Given the description of an element on the screen output the (x, y) to click on. 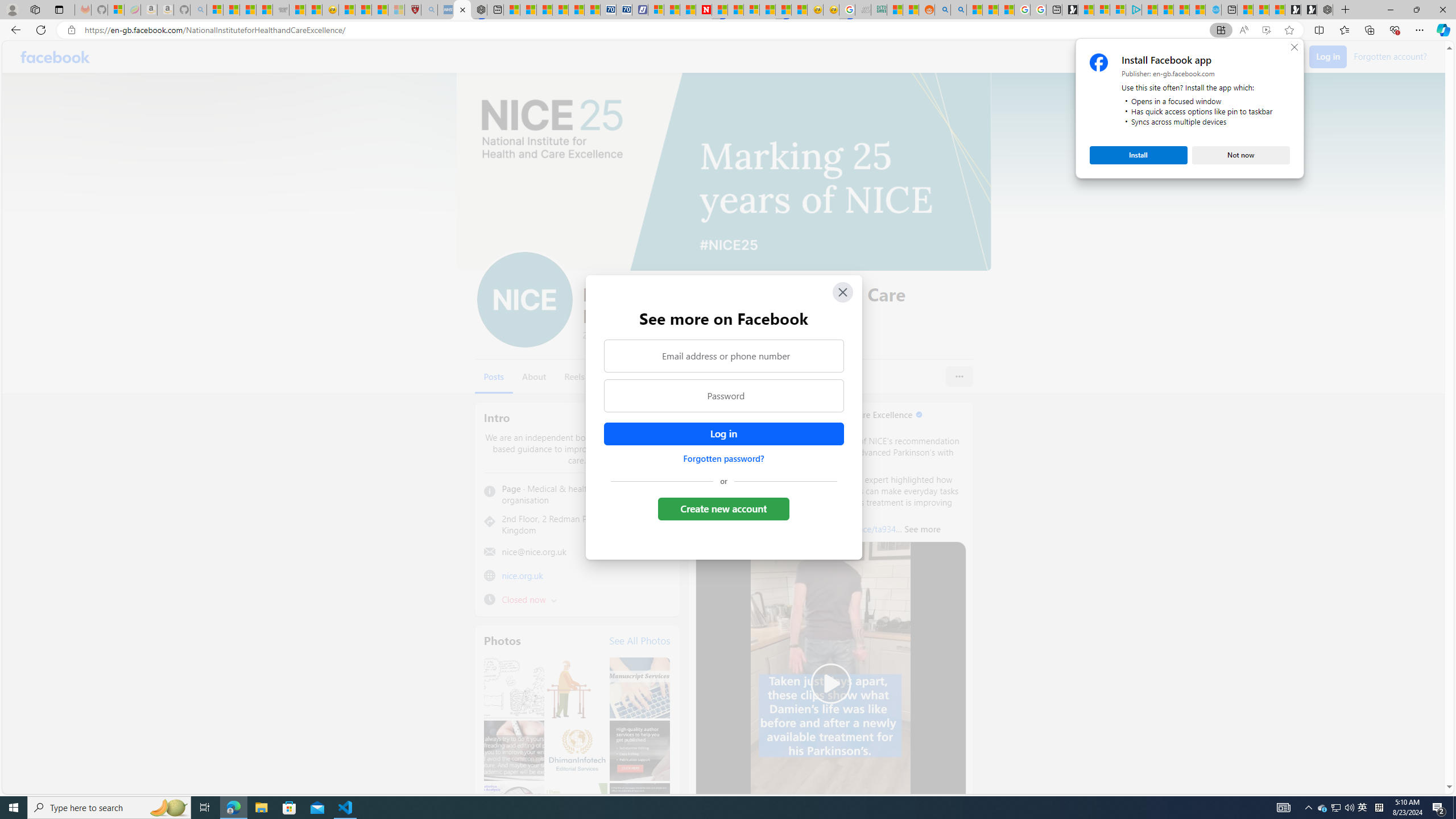
Accessible login button (723, 433)
Cheap Hotels - Save70.com (624, 9)
